Given the description of an element on the screen output the (x, y) to click on. 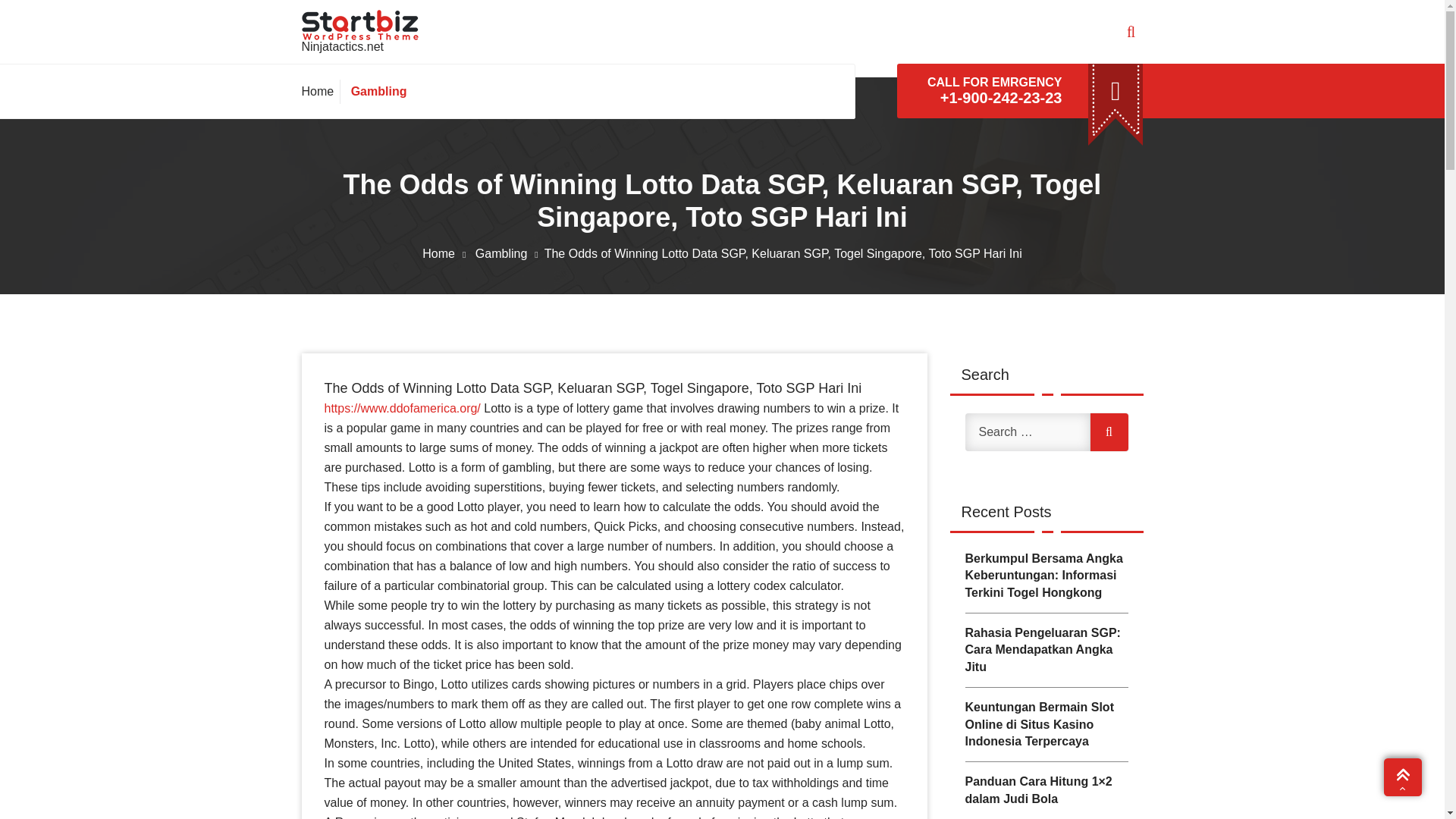
Gambling (376, 91)
Gambling (510, 253)
Home (320, 91)
Home (446, 253)
Gambling (376, 91)
Rahasia Pengeluaran SGP: Cara Mendapatkan Angka Jitu (1044, 649)
Home (320, 91)
